Given the description of an element on the screen output the (x, y) to click on. 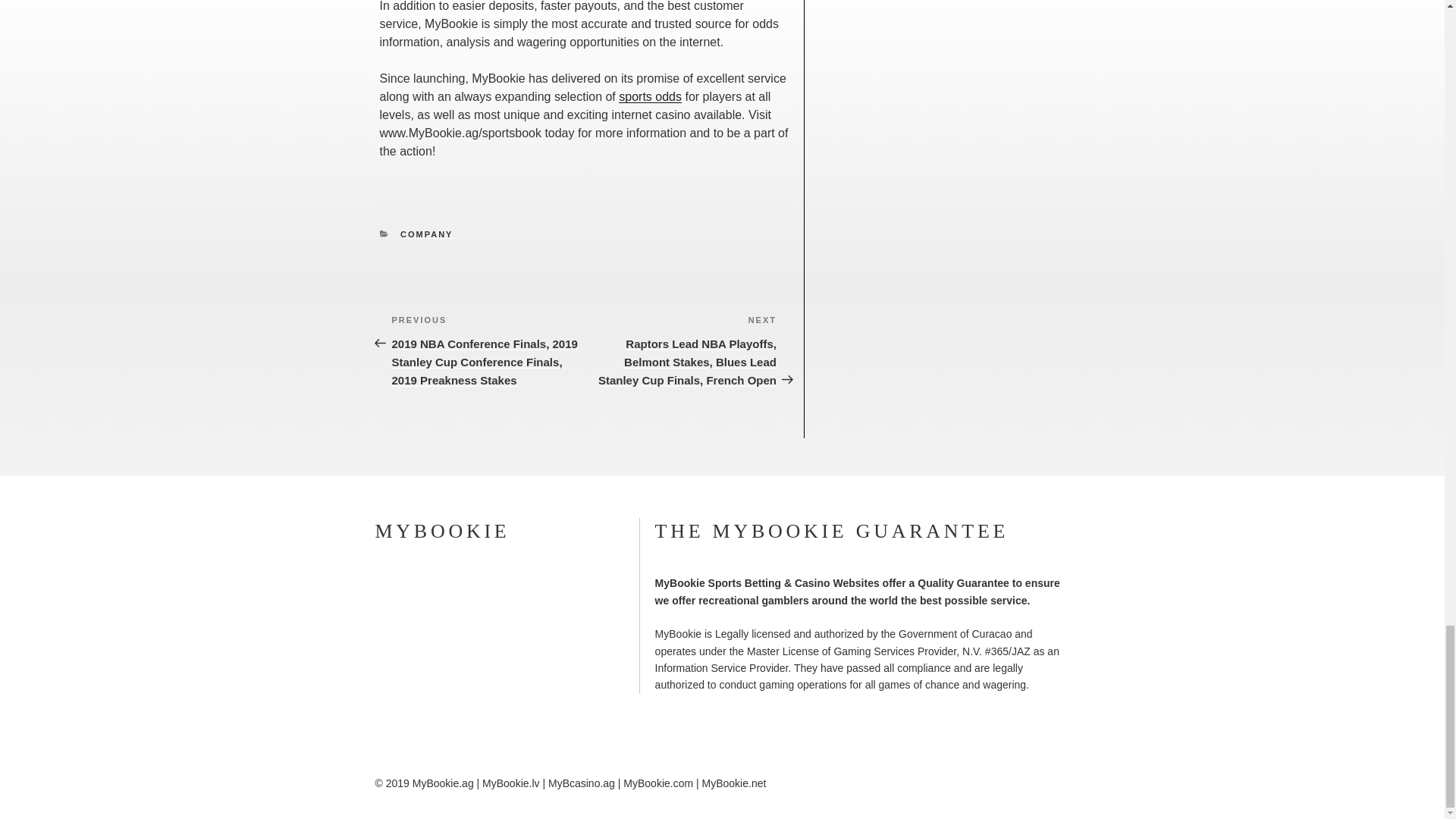
COMPANY (426, 234)
sports odds (649, 96)
